Given the description of an element on the screen output the (x, y) to click on. 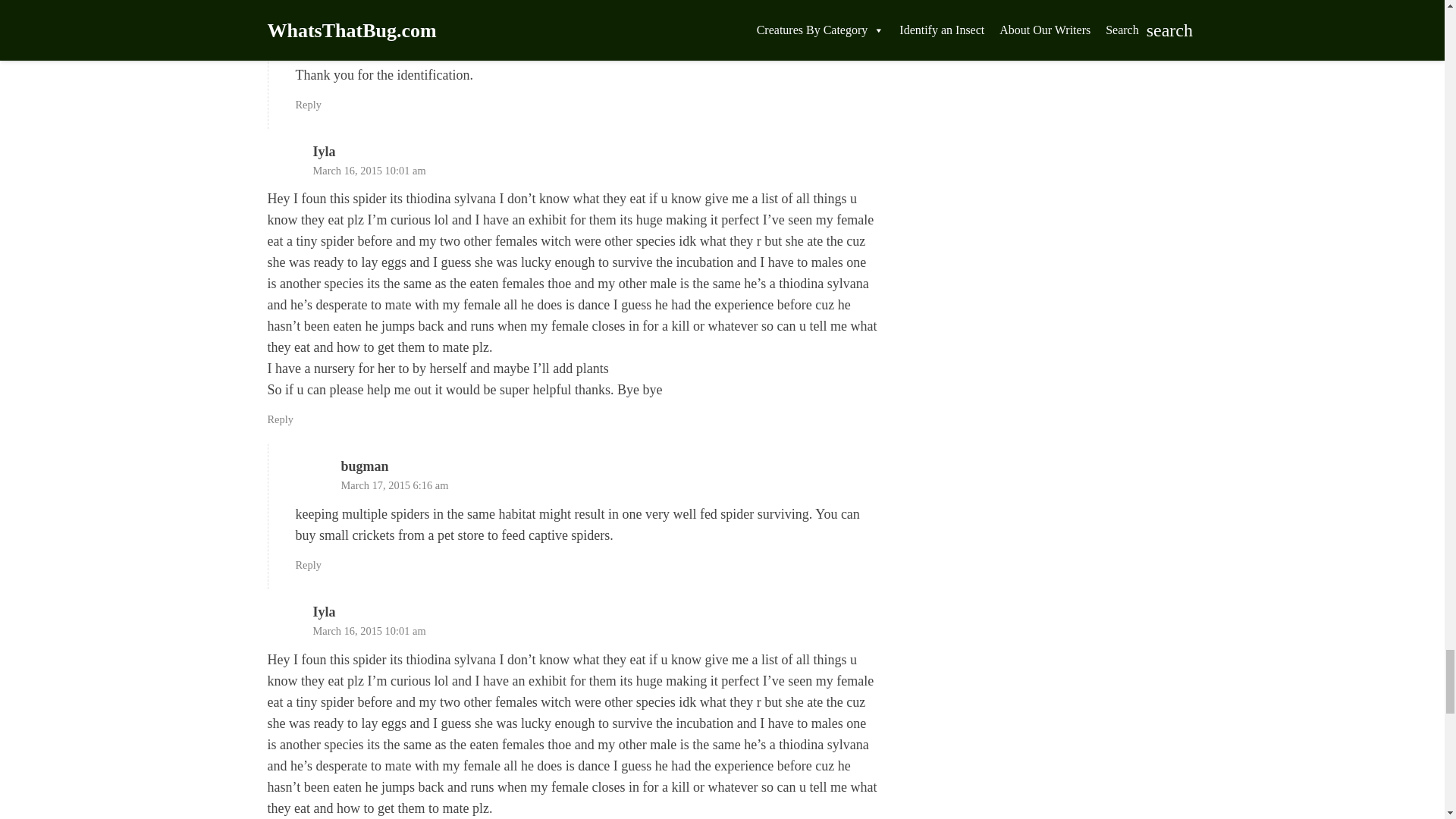
March 17, 2015 6:16 am (394, 485)
March 16, 2015 10:01 am (369, 170)
June 15, 2012 3:36 pm (390, 46)
March 16, 2015 10:01 am (369, 630)
